Given the description of an element on the screen output the (x, y) to click on. 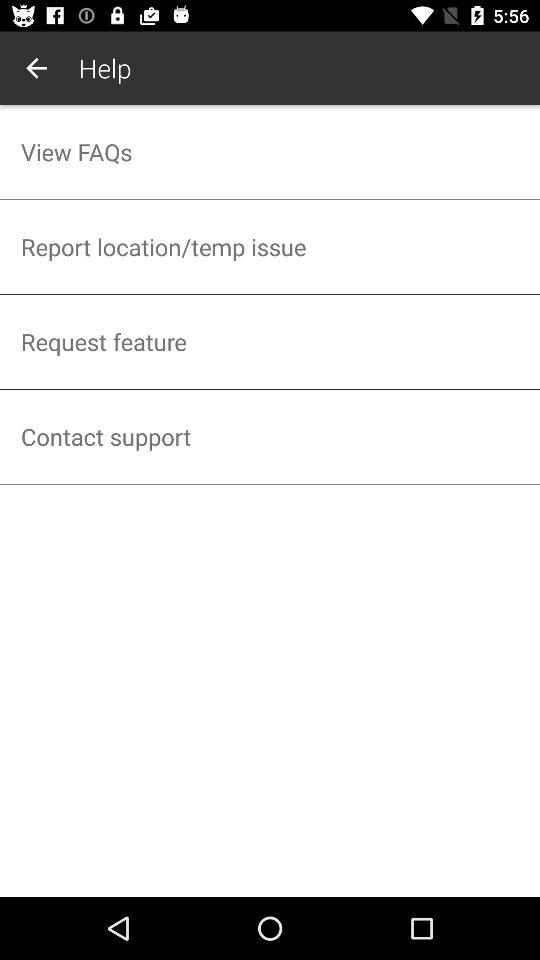
tap the item below the view faqs icon (270, 246)
